Given the description of an element on the screen output the (x, y) to click on. 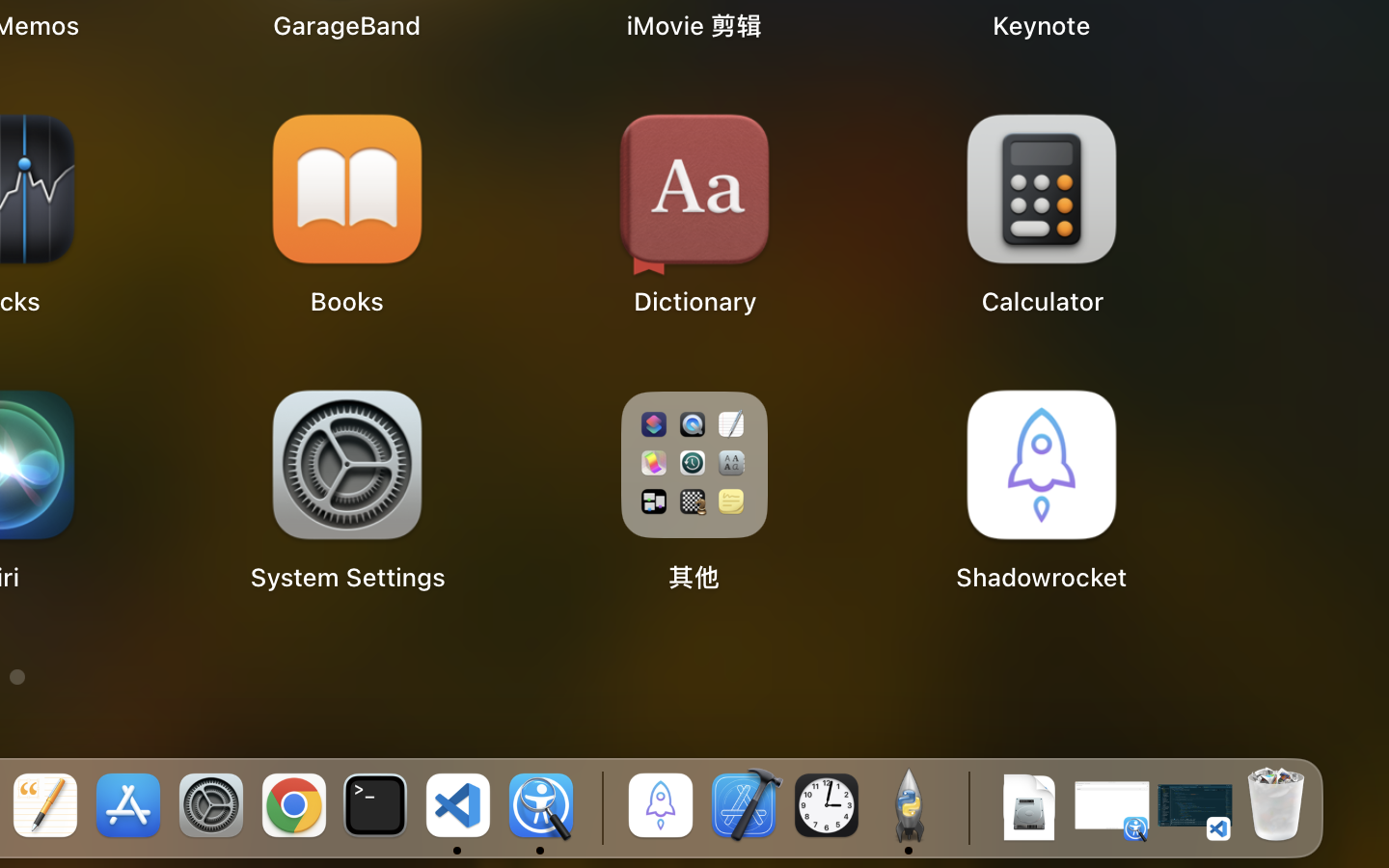
0.4285714328289032 Element type: AXDockItem (598, 807)
